Given the description of an element on the screen output the (x, y) to click on. 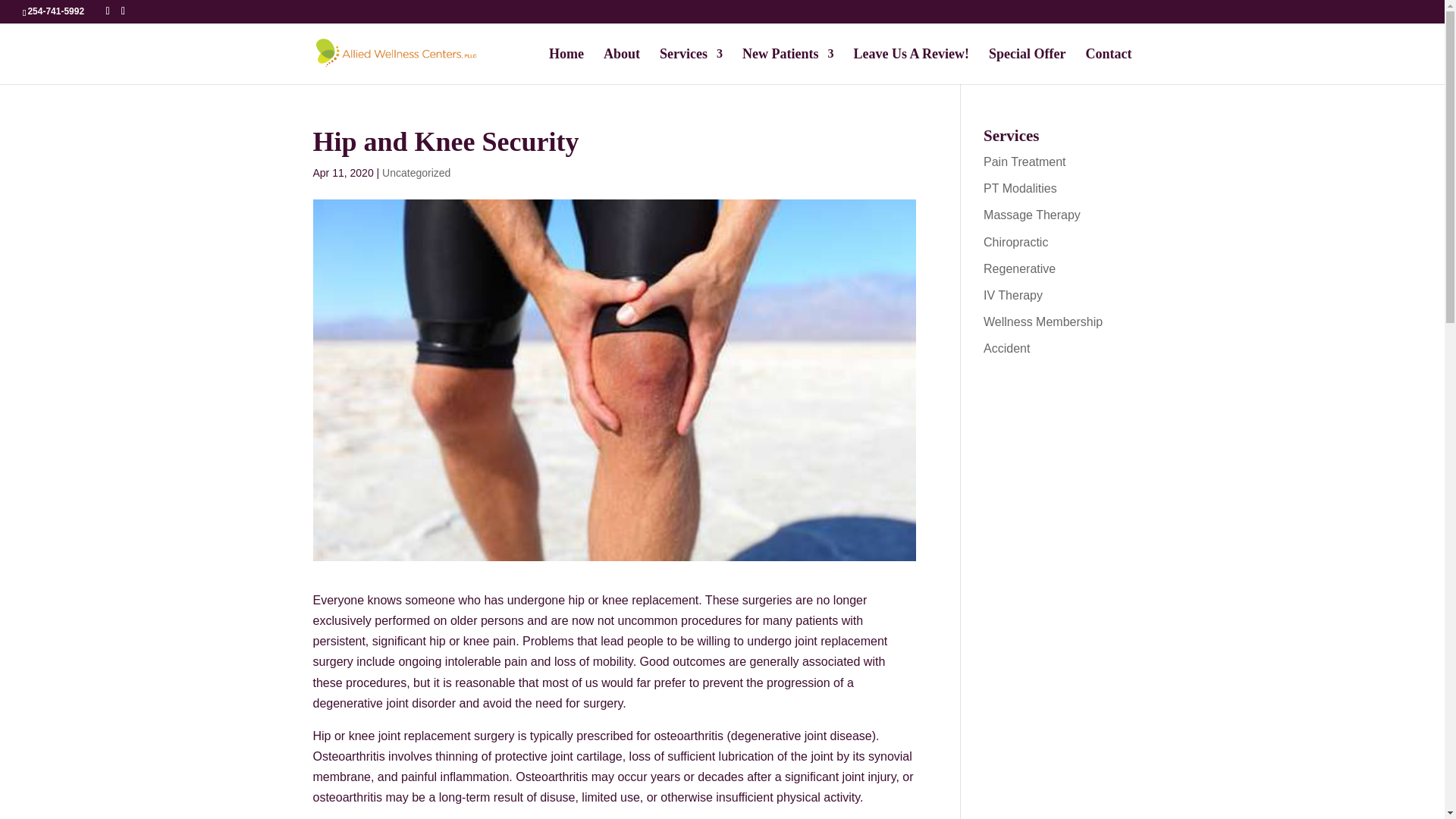
Leave Us A Review! (911, 66)
Home (565, 66)
About (622, 66)
Services (690, 66)
Contact (1109, 66)
New Patients (787, 66)
Special Offer (1026, 66)
